Given the description of an element on the screen output the (x, y) to click on. 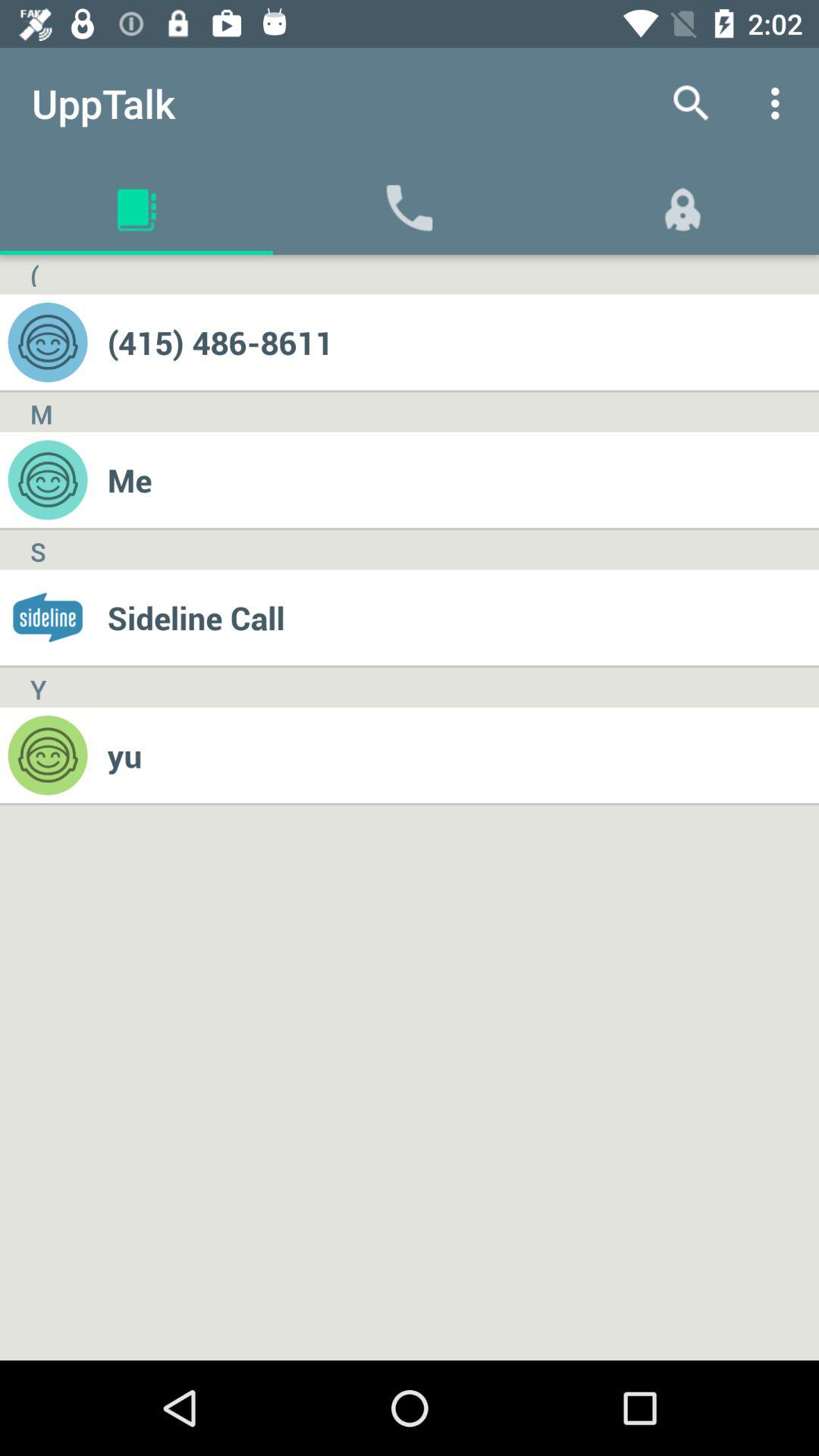
press app to the right of the upptalk app (691, 103)
